Given the description of an element on the screen output the (x, y) to click on. 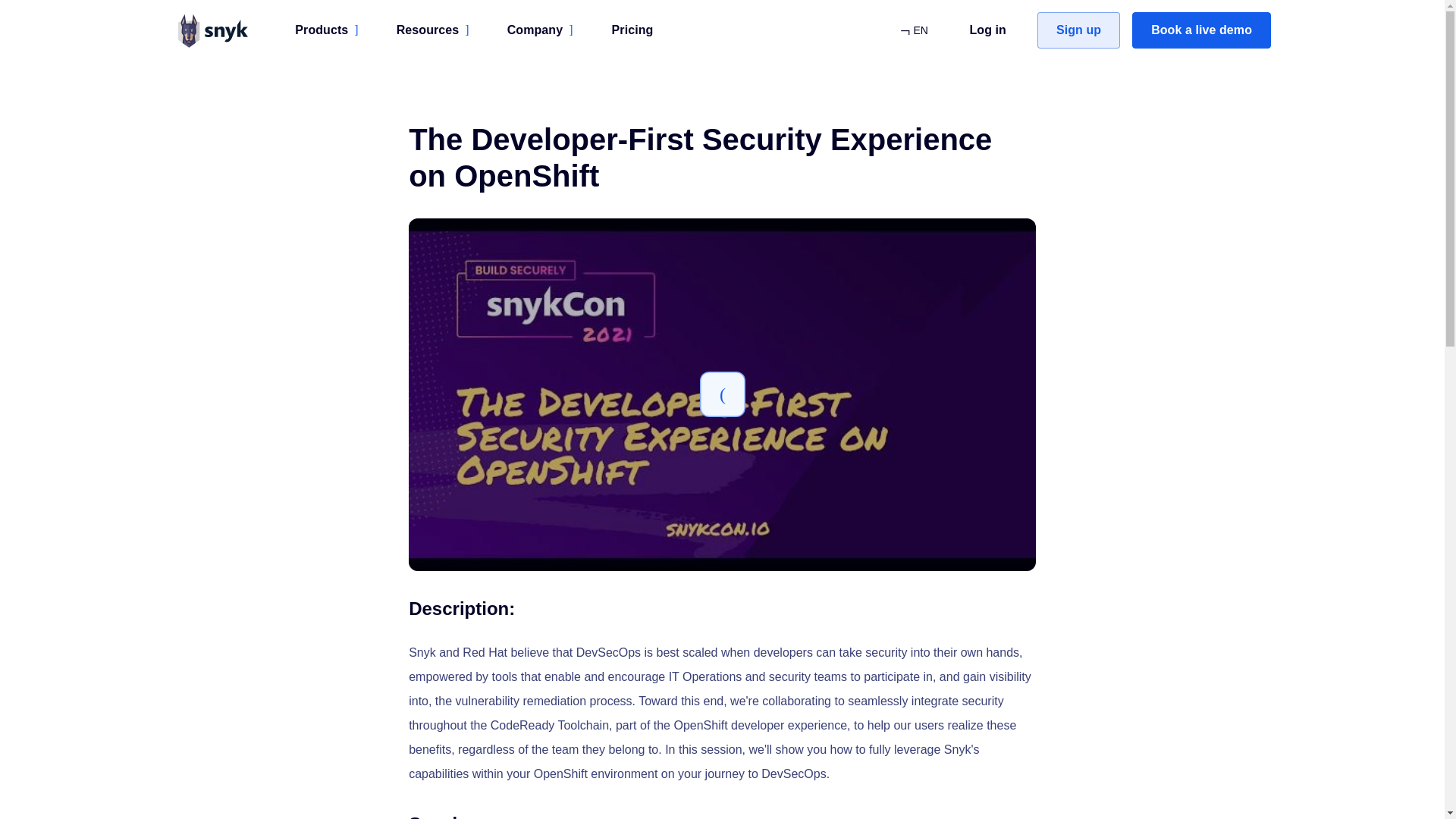
Select your language (913, 30)
Sign up (1077, 30)
Book a live demo (1201, 30)
Log in (987, 30)
Log in (987, 30)
Sign up (1077, 30)
Book a live demo (1201, 30)
Pricing (632, 29)
